Given the description of an element on the screen output the (x, y) to click on. 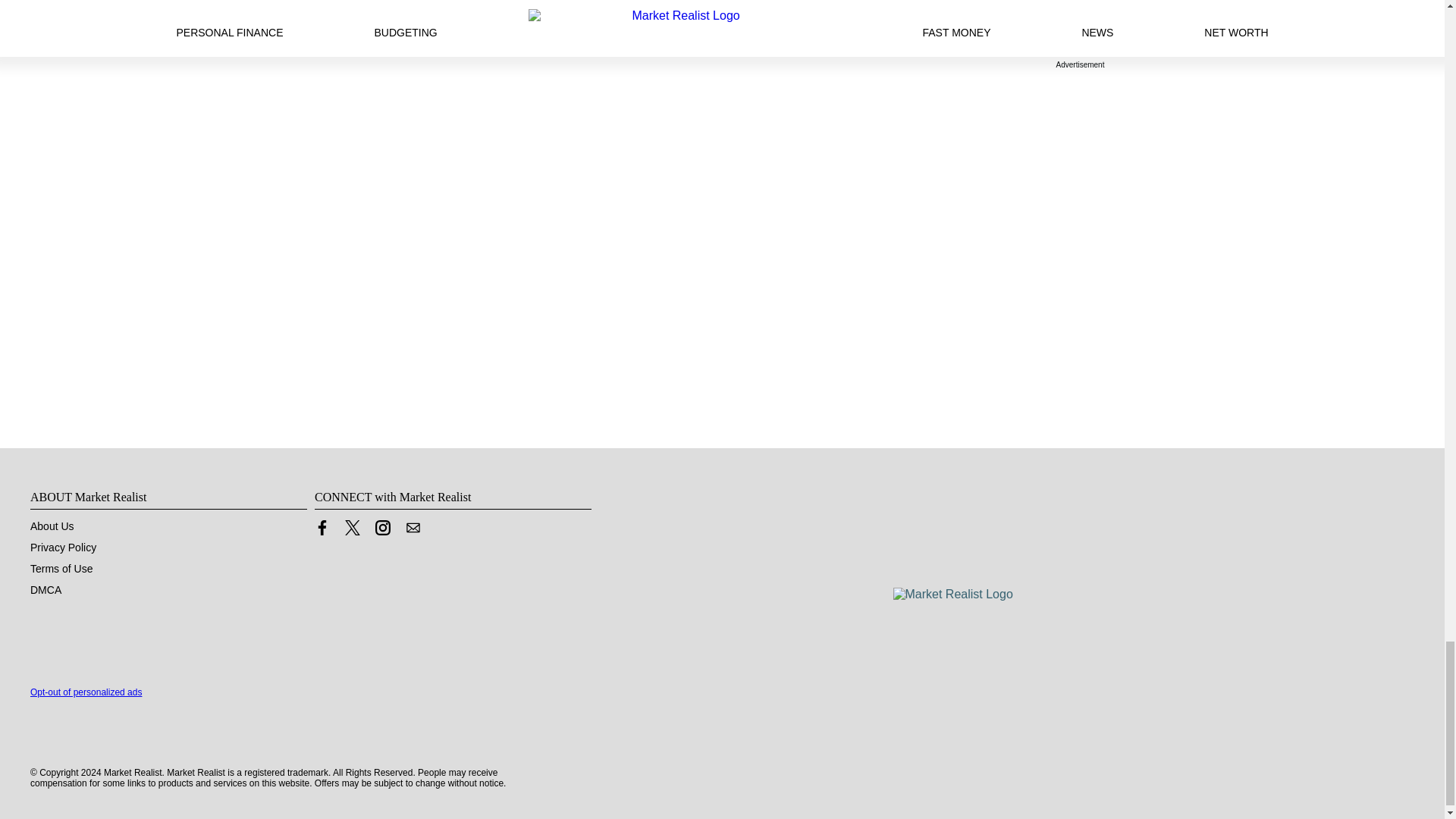
DMCA (45, 589)
Terms of Use (61, 568)
Contact us by Email (413, 527)
DMCA (45, 589)
Opt-out of personalized ads (85, 692)
Contact us by Email (413, 531)
Terms of Use (61, 568)
Link to X (352, 527)
About Us (52, 526)
About Us (52, 526)
